Given the description of an element on the screen output the (x, y) to click on. 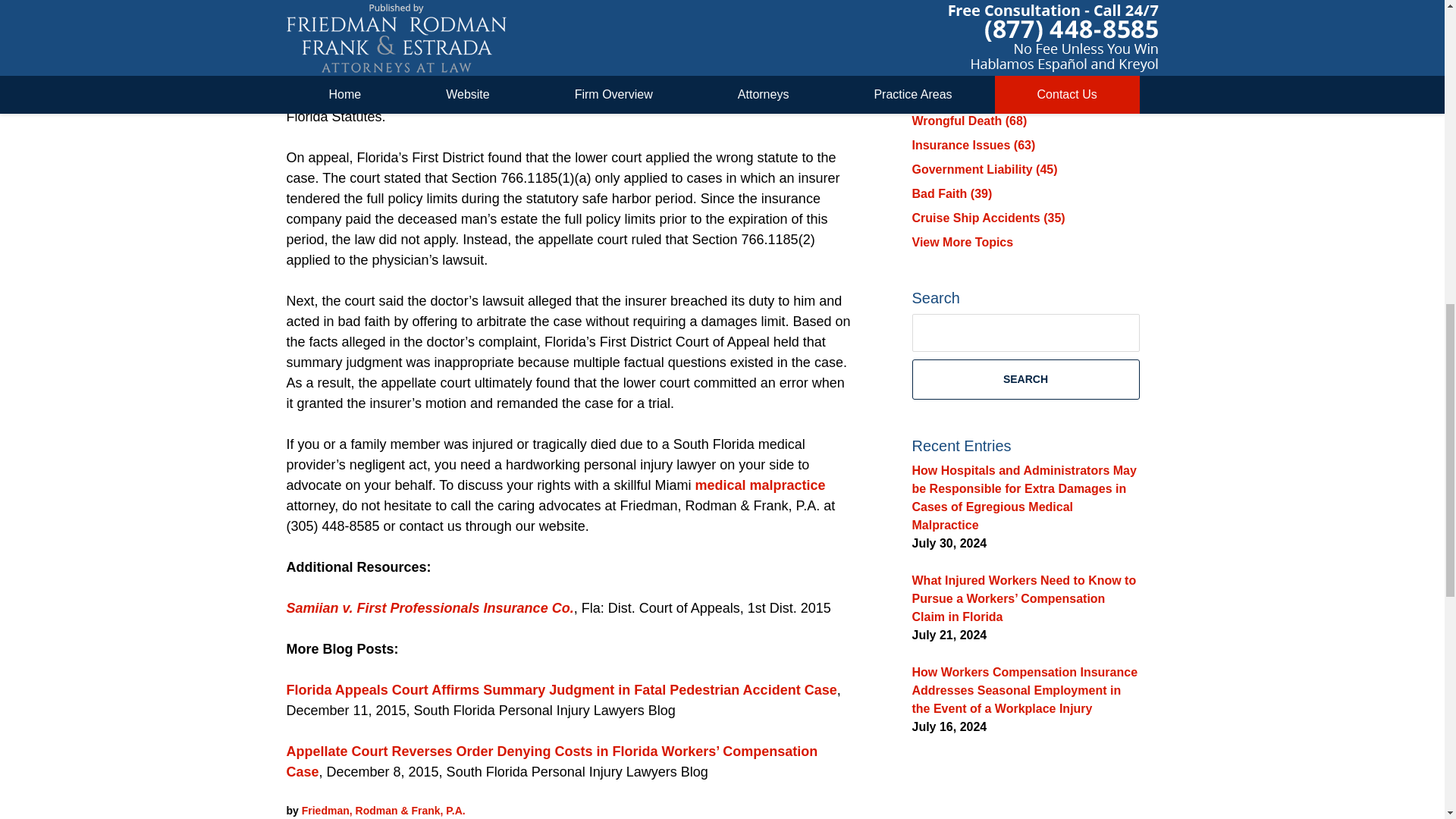
Samiian v. First Professionals Insurance Co. (429, 607)
medical malpractice (759, 485)
